Given the description of an element on the screen output the (x, y) to click on. 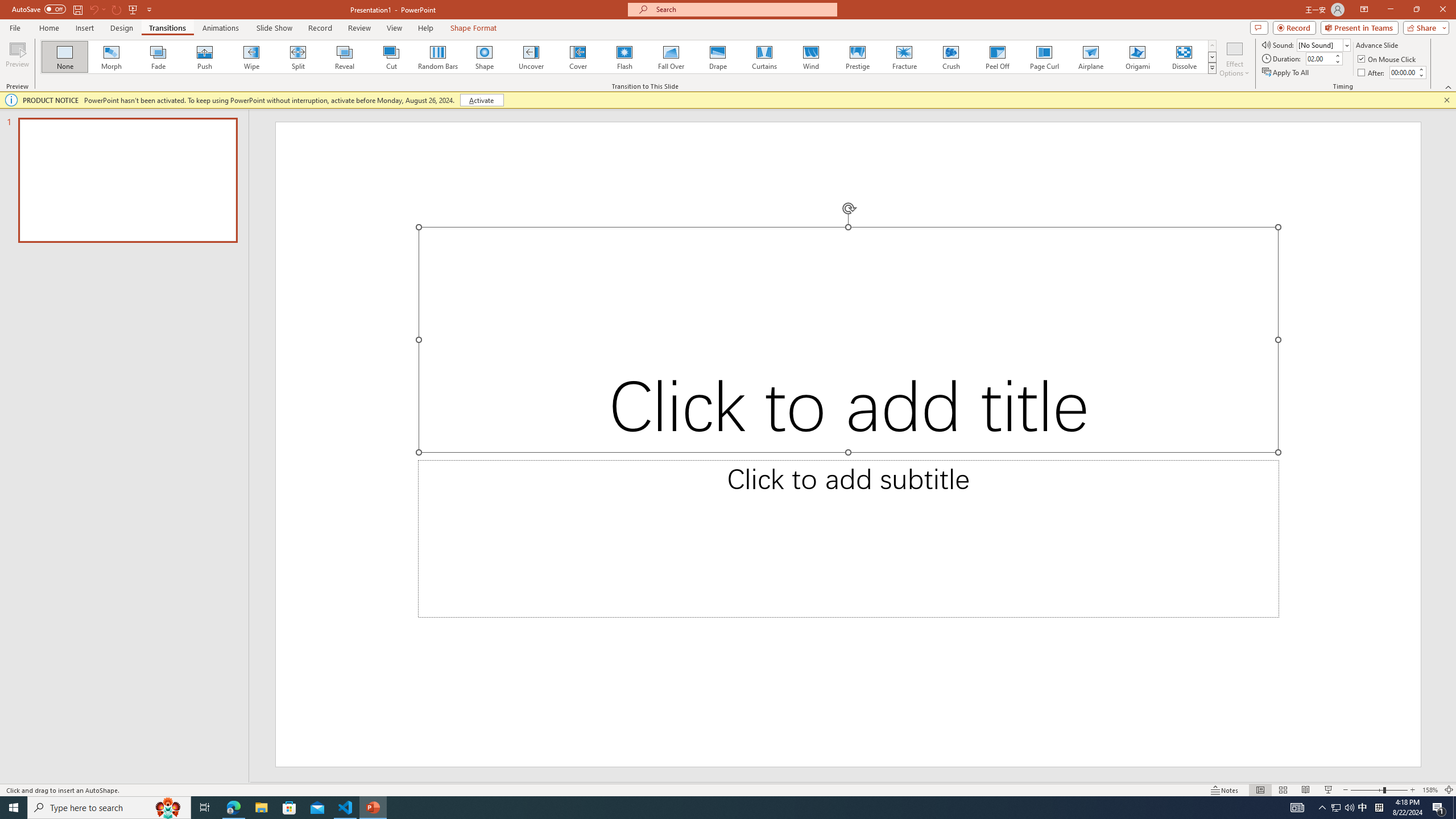
Close this message (1446, 99)
Shape (484, 56)
Fall Over (670, 56)
Activate (481, 100)
Fade (158, 56)
Shape Format (473, 28)
Reveal (344, 56)
